Given the description of an element on the screen output the (x, y) to click on. 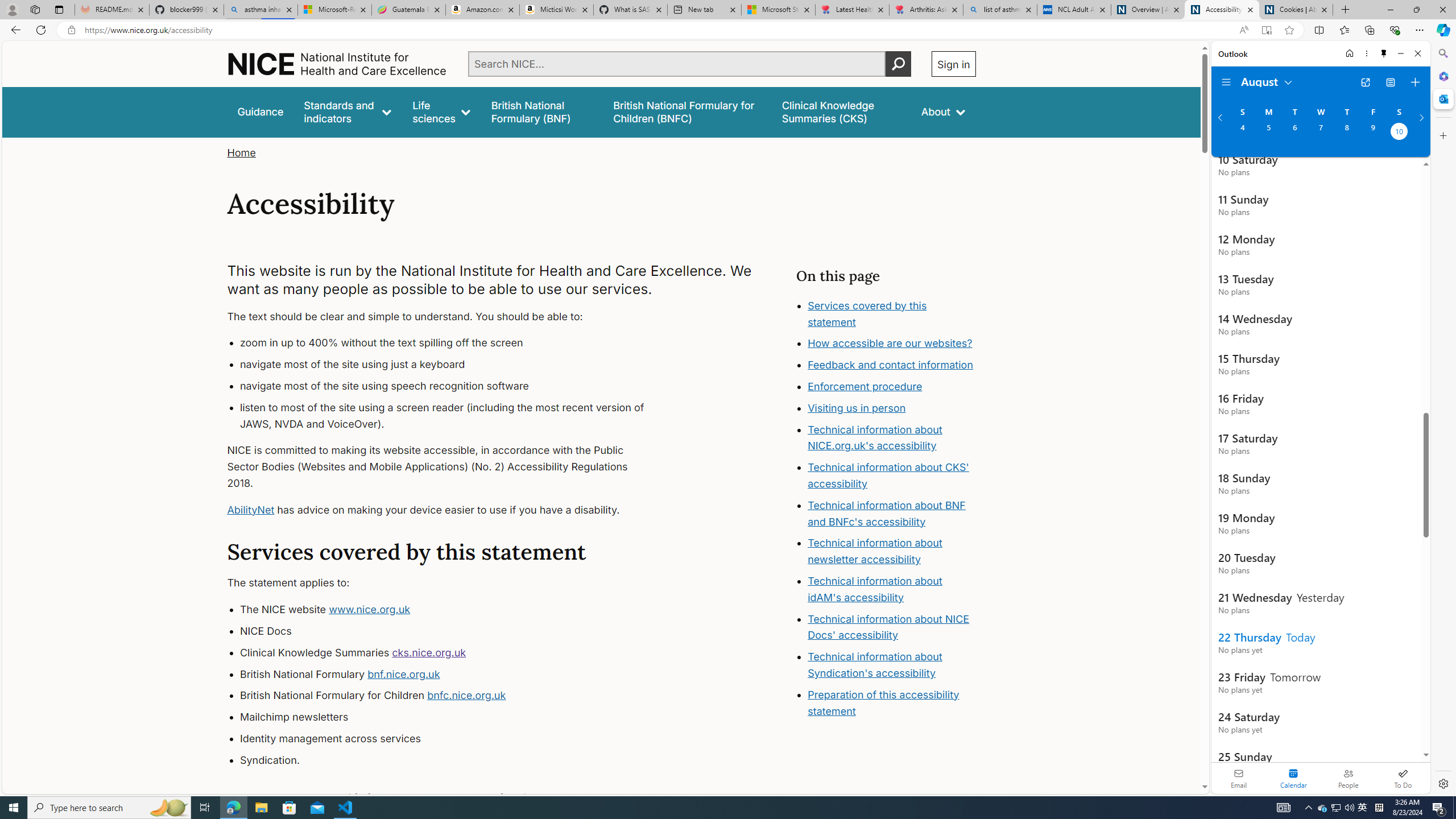
Close Customize pane (1442, 135)
Life sciences (440, 111)
Email (1238, 777)
